Given the description of an element on the screen output the (x, y) to click on. 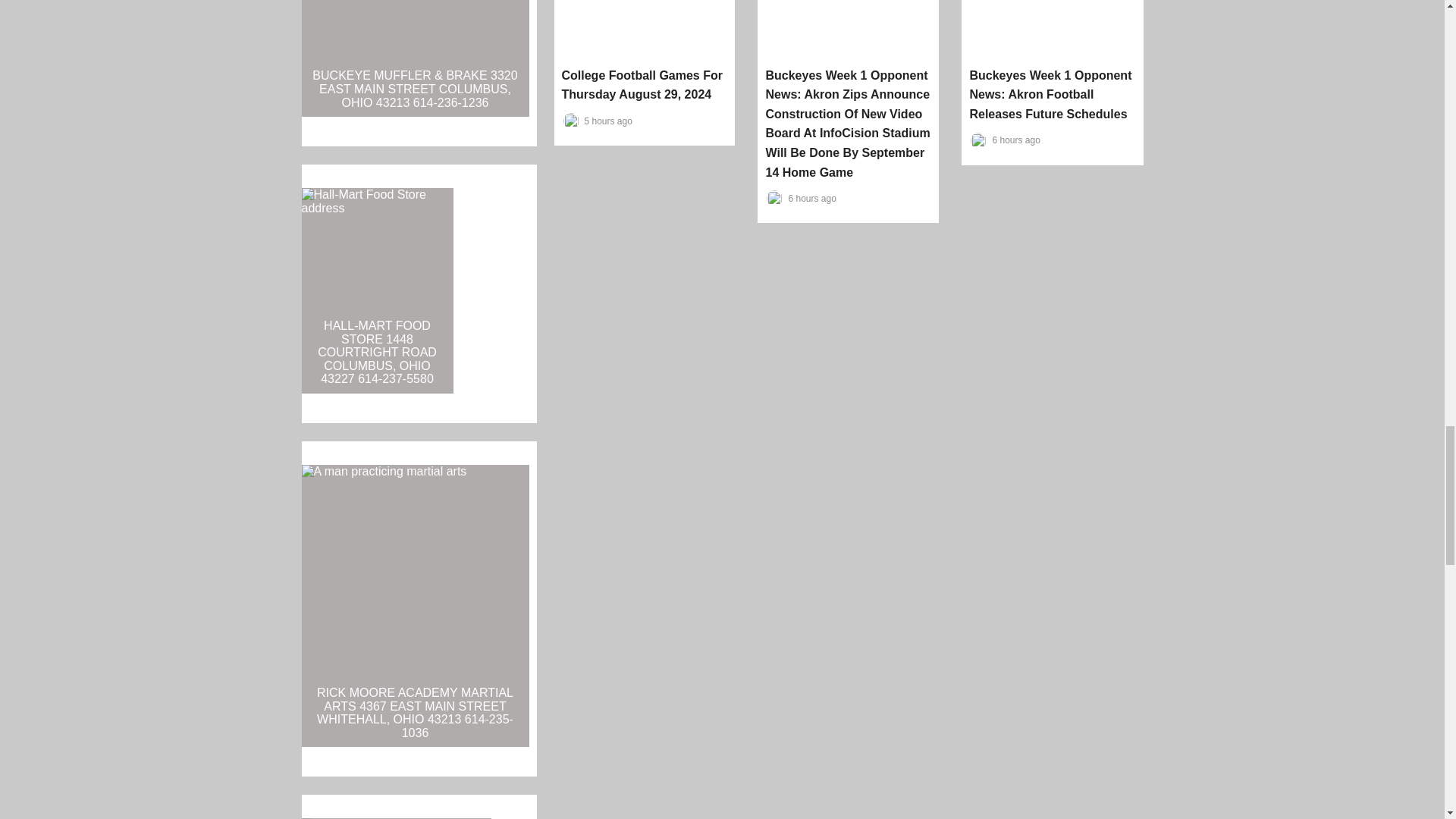
College Football Games For Thursday August 29, 2024 (641, 84)
